Given the description of an element on the screen output the (x, y) to click on. 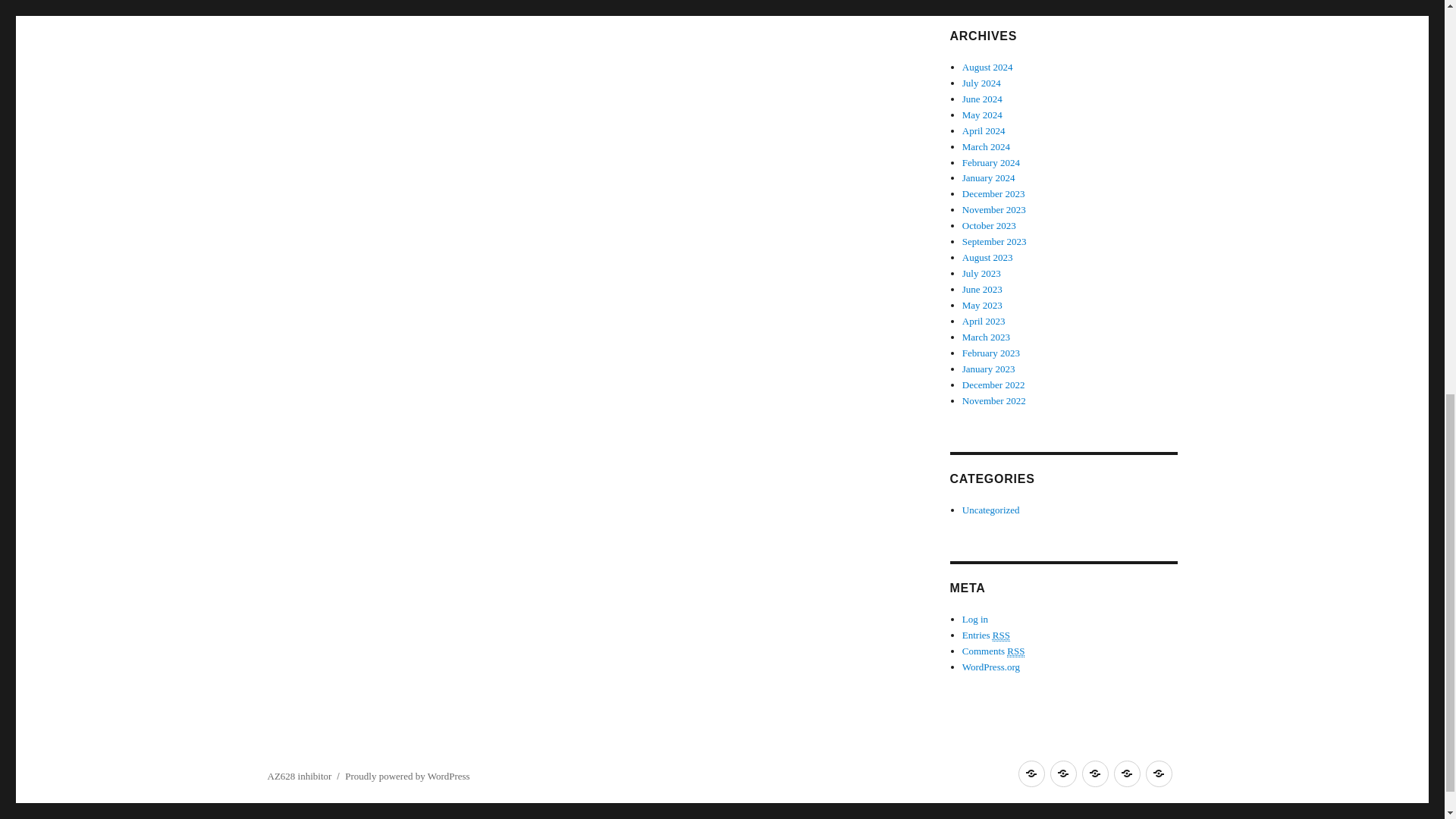
Really Simple Syndication (1016, 651)
August 2023 (987, 256)
April 2024 (984, 130)
November 2023 (994, 209)
March 2024 (986, 146)
June 2024 (982, 98)
May 2024 (982, 114)
Really Simple Syndication (1001, 635)
September 2023 (994, 241)
August 2024 (987, 66)
